Given the description of an element on the screen output the (x, y) to click on. 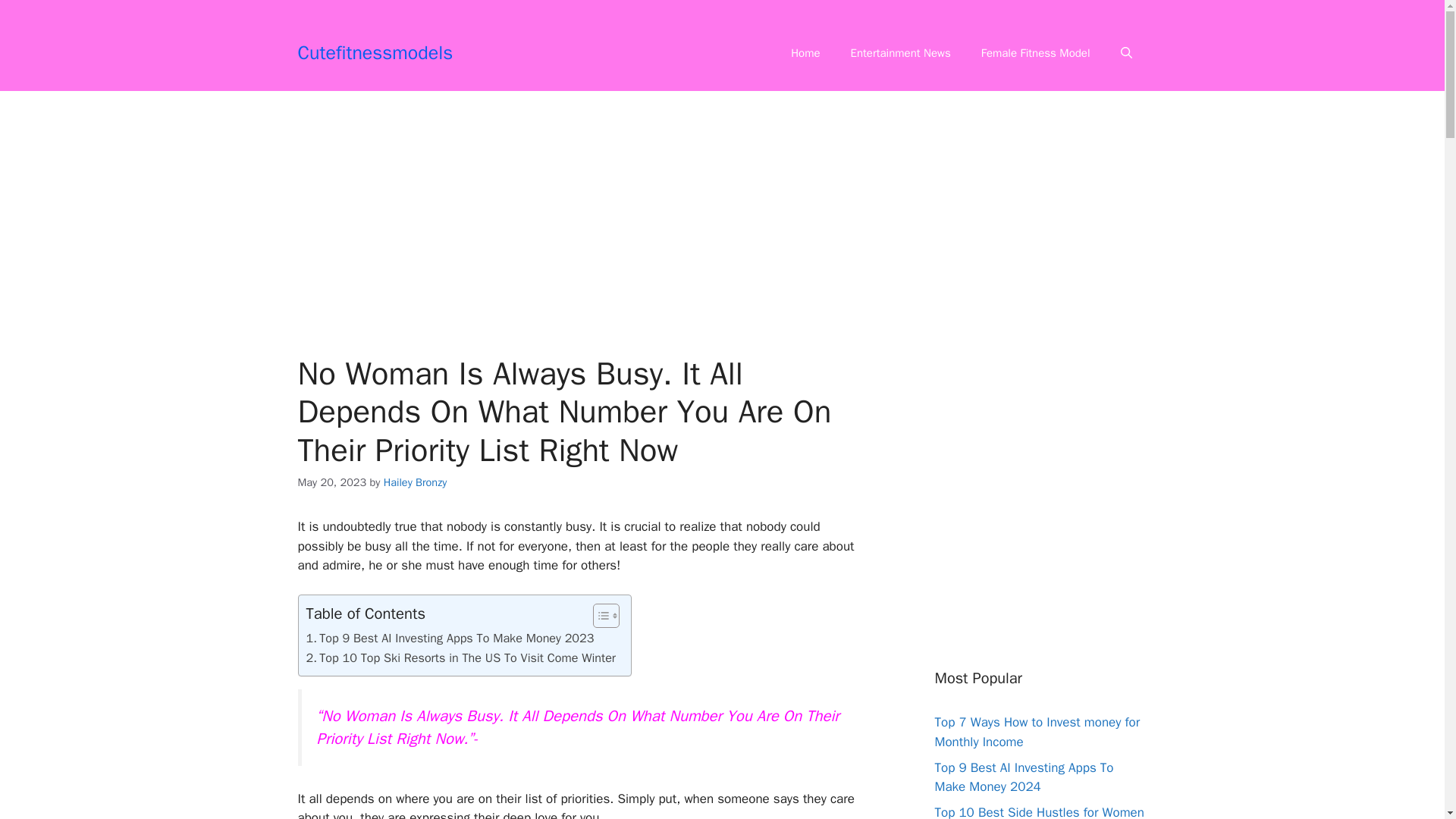
Top 10 Top Ski Resorts in The US To Visit Come Winter (460, 658)
Top 9 Best AI Investing Apps To Make Money 2023 (449, 638)
Cutefitnessmodels (374, 52)
Advertisement (577, 212)
Top 9 Best AI Investing Apps To Make Money 2023 (449, 638)
Hailey Bronzy (415, 481)
Home (805, 53)
Top 10 Top Ski Resorts in The US To Visit Come Winter (460, 658)
Female Fitness Model (1035, 53)
Entertainment News (900, 53)
View all posts by Hailey Bronzy (415, 481)
